Given the description of an element on the screen output the (x, y) to click on. 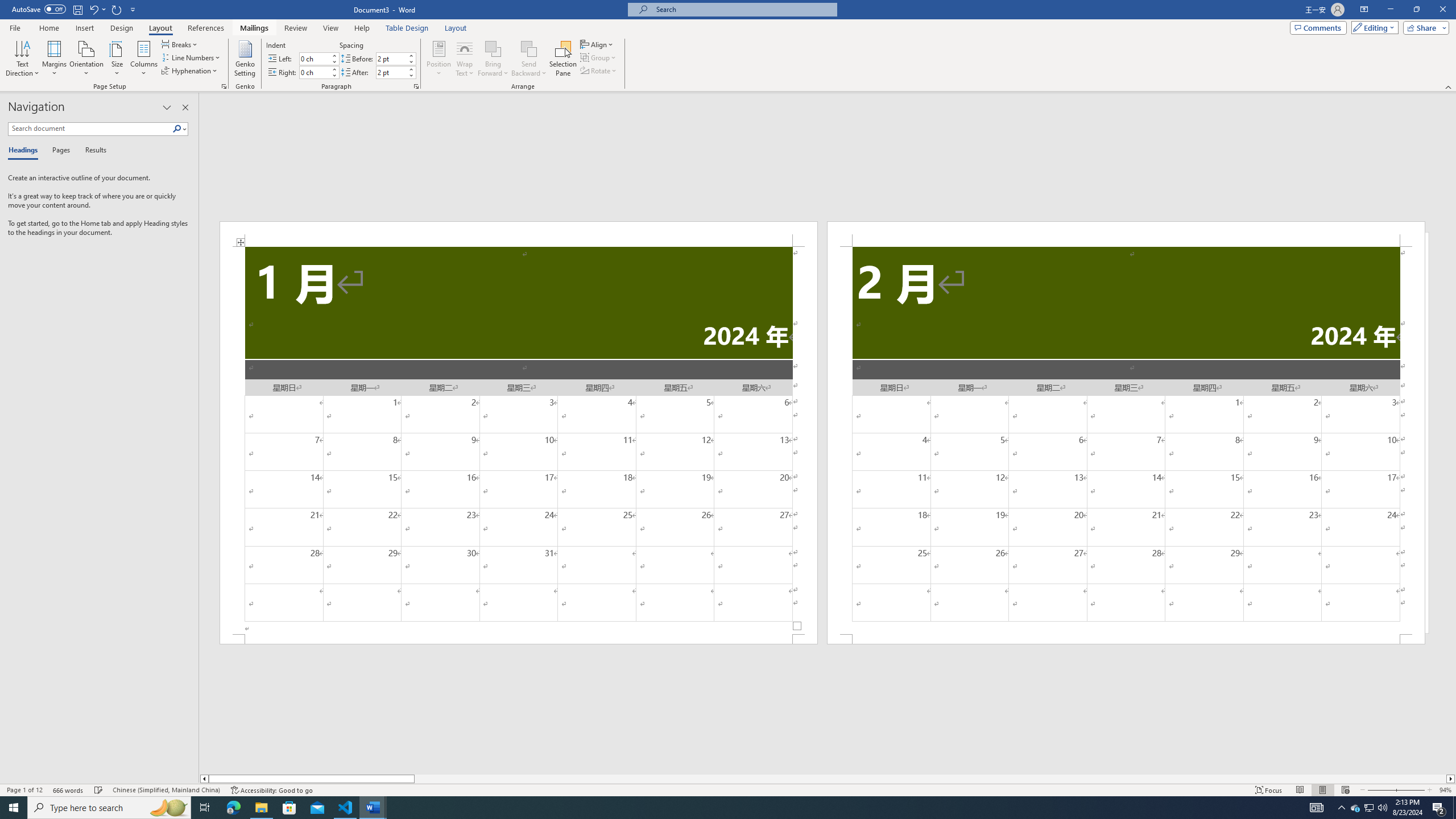
Review (295, 28)
Save (77, 9)
Zoom Out (1380, 790)
Breaks (179, 44)
Close (1442, 9)
Home (48, 28)
Language Chinese (Simplified, Mainland China) (165, 790)
Class: NetUIScrollBar (827, 778)
Orientation (86, 58)
Hyphenation (189, 69)
Design (122, 28)
Send Backward (528, 48)
View (330, 28)
Page Number Page 1 of 12 (24, 790)
Align (597, 44)
